Given the description of an element on the screen output the (x, y) to click on. 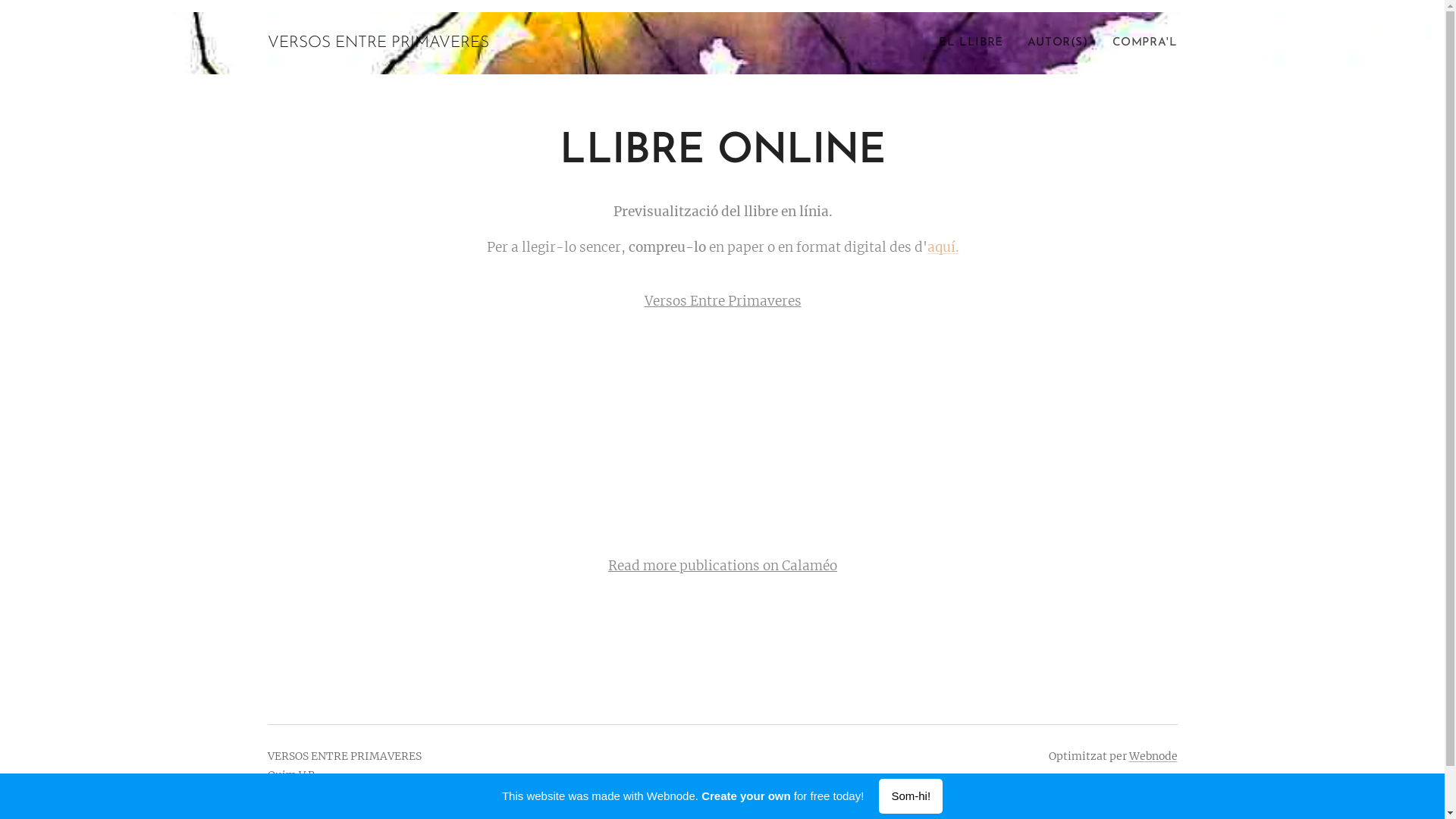
AUTOR(S) Element type: text (1057, 43)
VERSOS ENTRE PRIMAVERES Element type: text (377, 43)
COMPRA'L Element type: text (1138, 43)
EL LLIBRE Element type: text (974, 43)
Webnode Element type: text (1152, 755)
Versos Entre Primaveres Element type: text (721, 300)
